Given the description of an element on the screen output the (x, y) to click on. 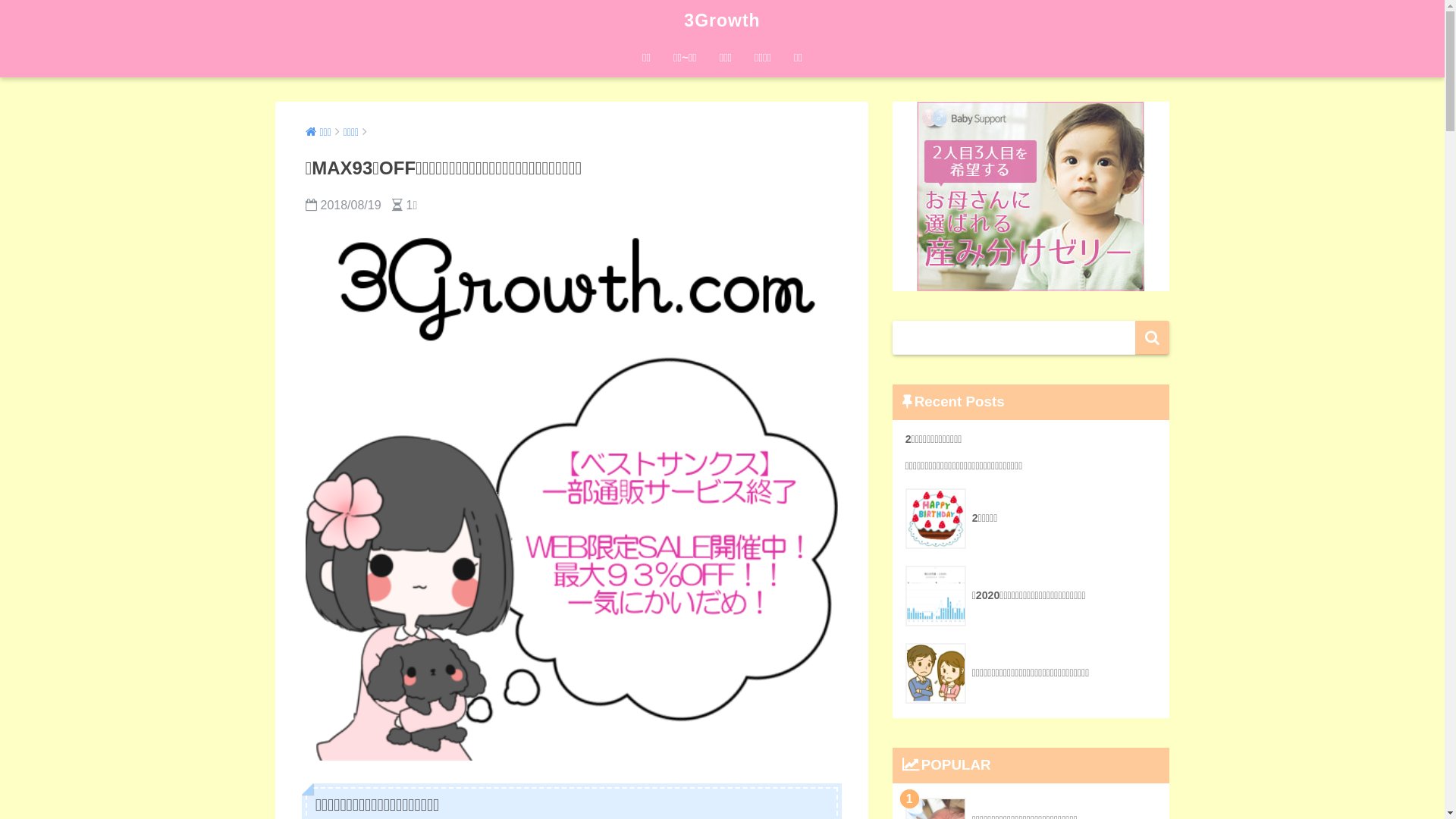
3Growth Element type: text (721, 20)
